Given the description of an element on the screen output the (x, y) to click on. 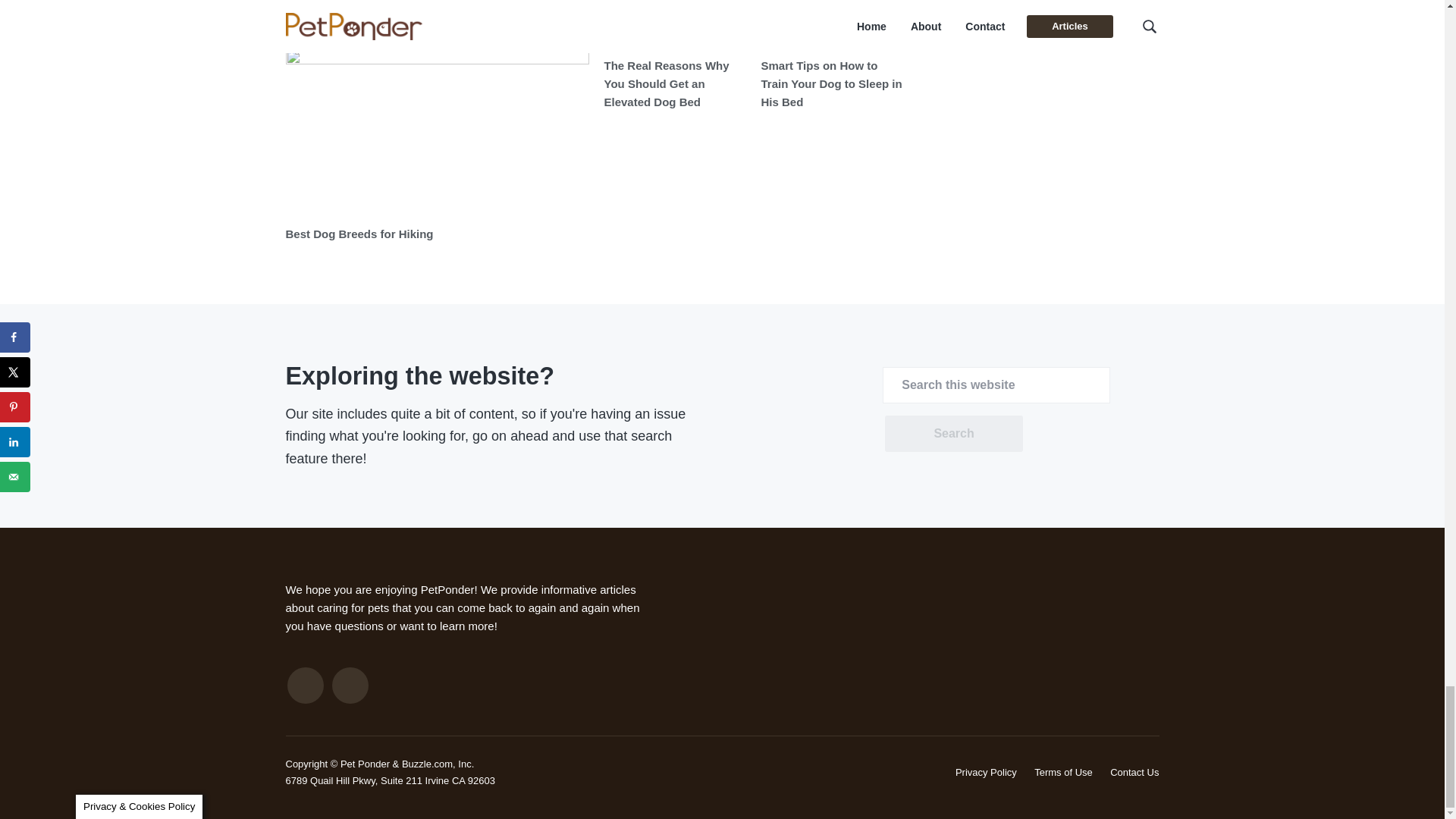
Smart Tips on How to Train Your Dog to Sleep in His Bed (831, 83)
Search (953, 433)
Permanent Link to Best Dog Breeds for Hiking (358, 233)
The Real Reasons Why You Should Get an Elevated Dog Bed (666, 83)
Search (953, 433)
Best Dog Breeds for Hiking (358, 233)
Permanent Link to Best Dog Breeds for Hiking (436, 133)
